Given the description of an element on the screen output the (x, y) to click on. 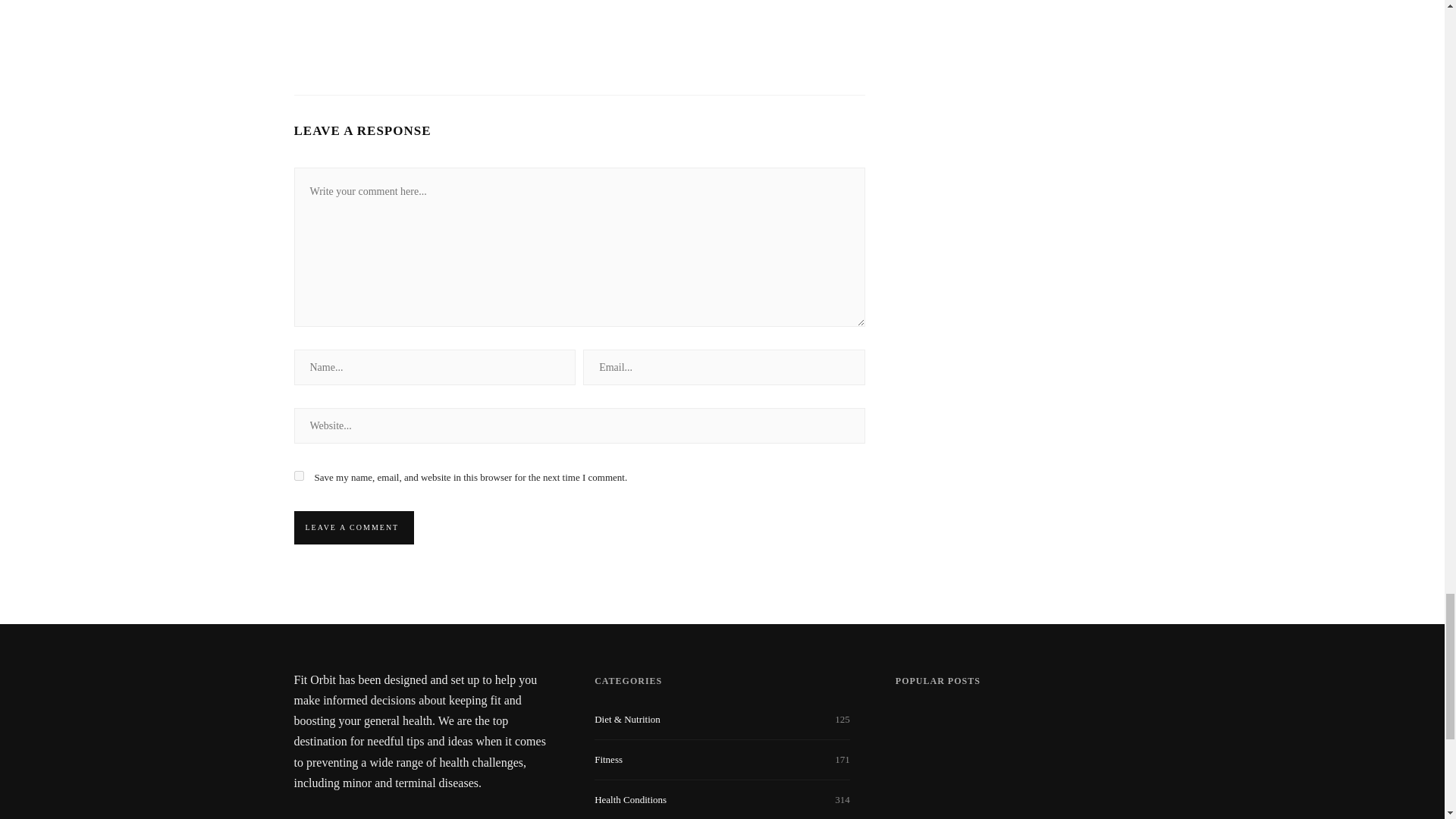
Leave a comment (351, 527)
yes (299, 475)
